Given the description of an element on the screen output the (x, y) to click on. 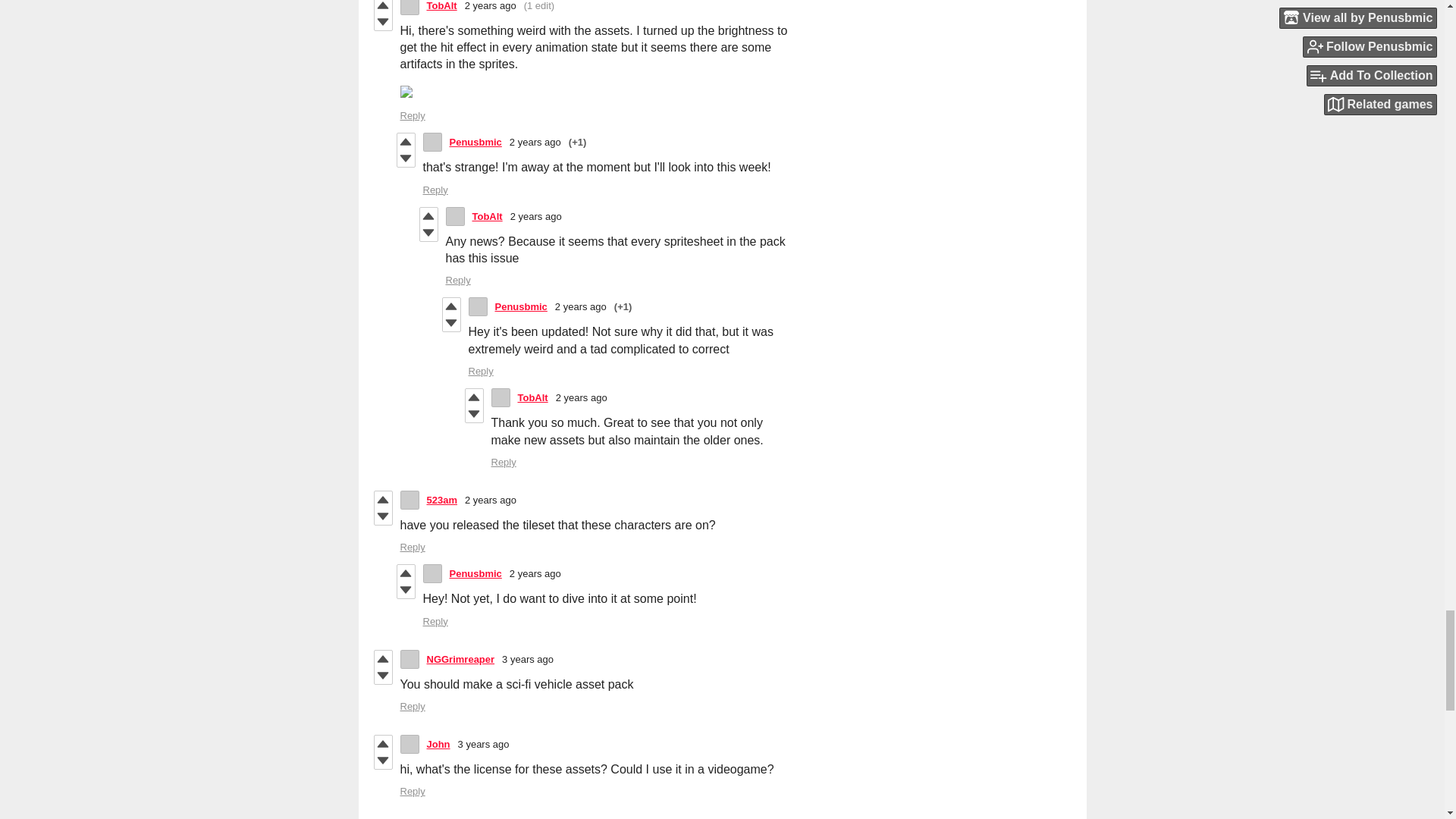
Vote down (382, 21)
2022-05-30 19:13:59 (490, 5)
Vote up (382, 6)
